Given the description of an element on the screen output the (x, y) to click on. 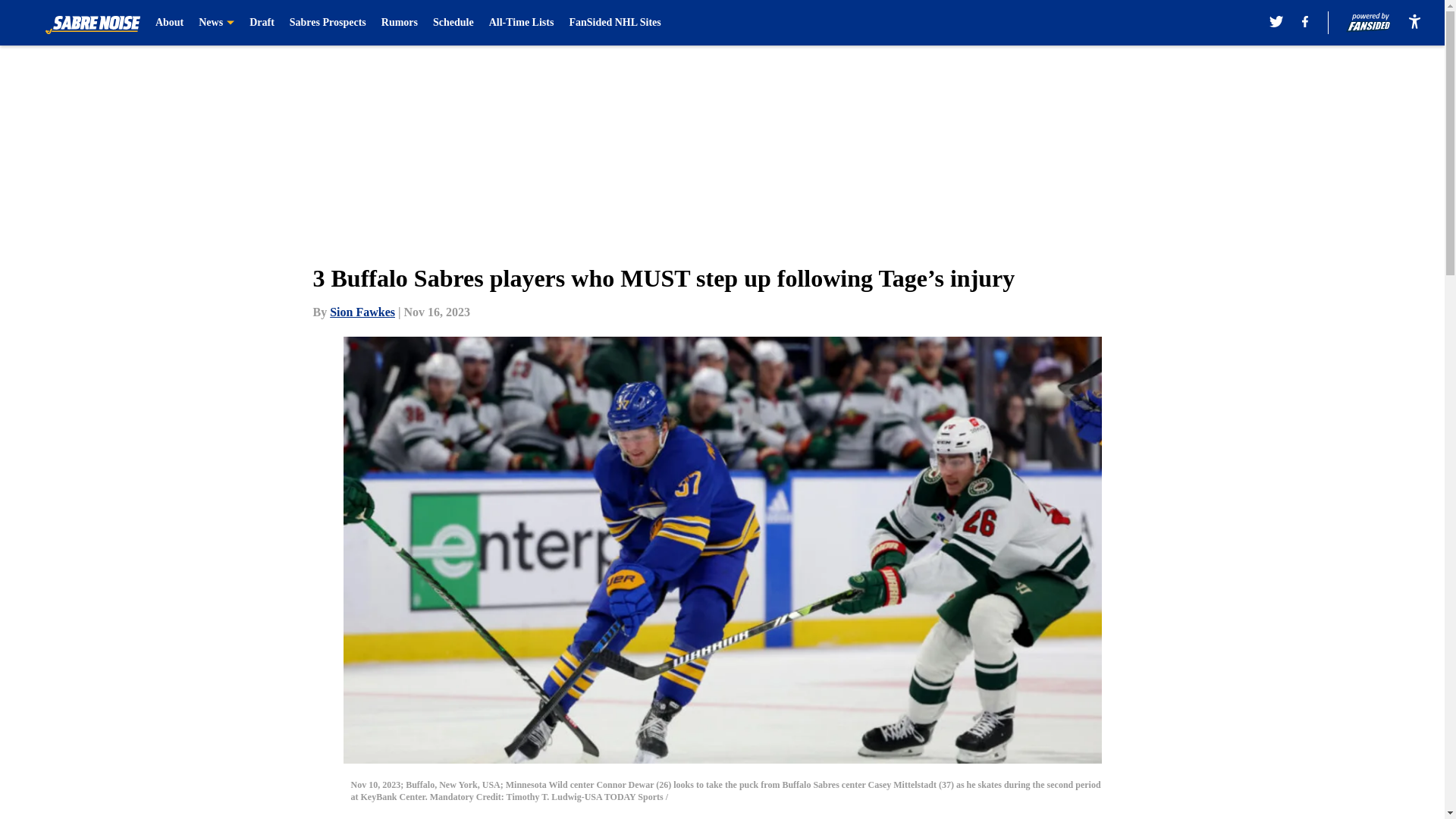
All-Time Lists (521, 22)
Sion Fawkes (362, 311)
FanSided NHL Sites (615, 22)
Draft (261, 22)
Sabres Prospects (327, 22)
Schedule (453, 22)
About (169, 22)
Rumors (399, 22)
